Given the description of an element on the screen output the (x, y) to click on. 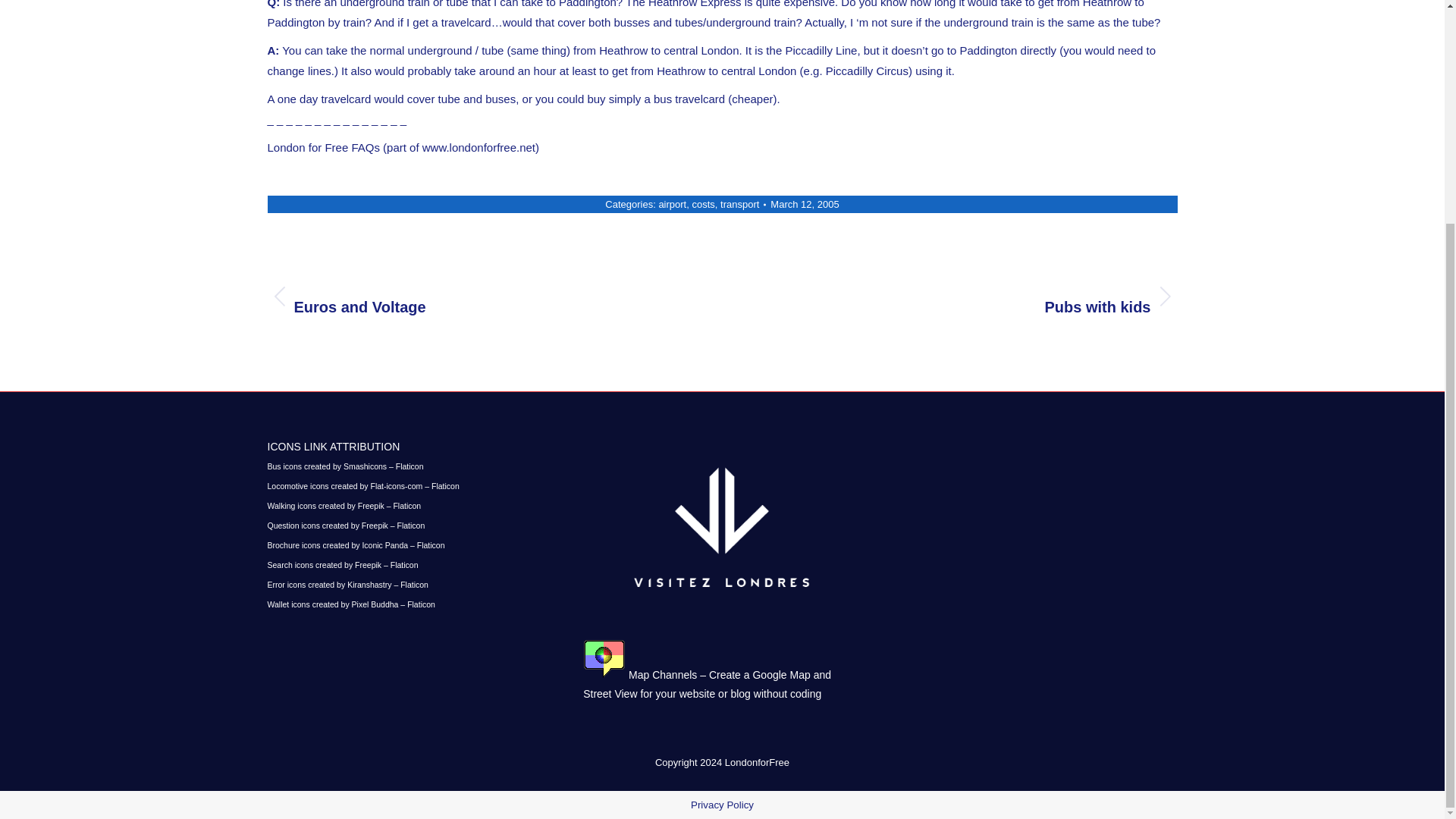
search icons (341, 564)
bus icons (344, 465)
March 12, 2005 (804, 203)
walking icons (482, 296)
transport (343, 505)
locomotive icons (739, 204)
brochure icons (362, 485)
airport (355, 544)
costs (671, 204)
question icons (702, 204)
wallet icons (345, 524)
4:19 pm (349, 604)
error icons (804, 203)
